Given the description of an element on the screen output the (x, y) to click on. 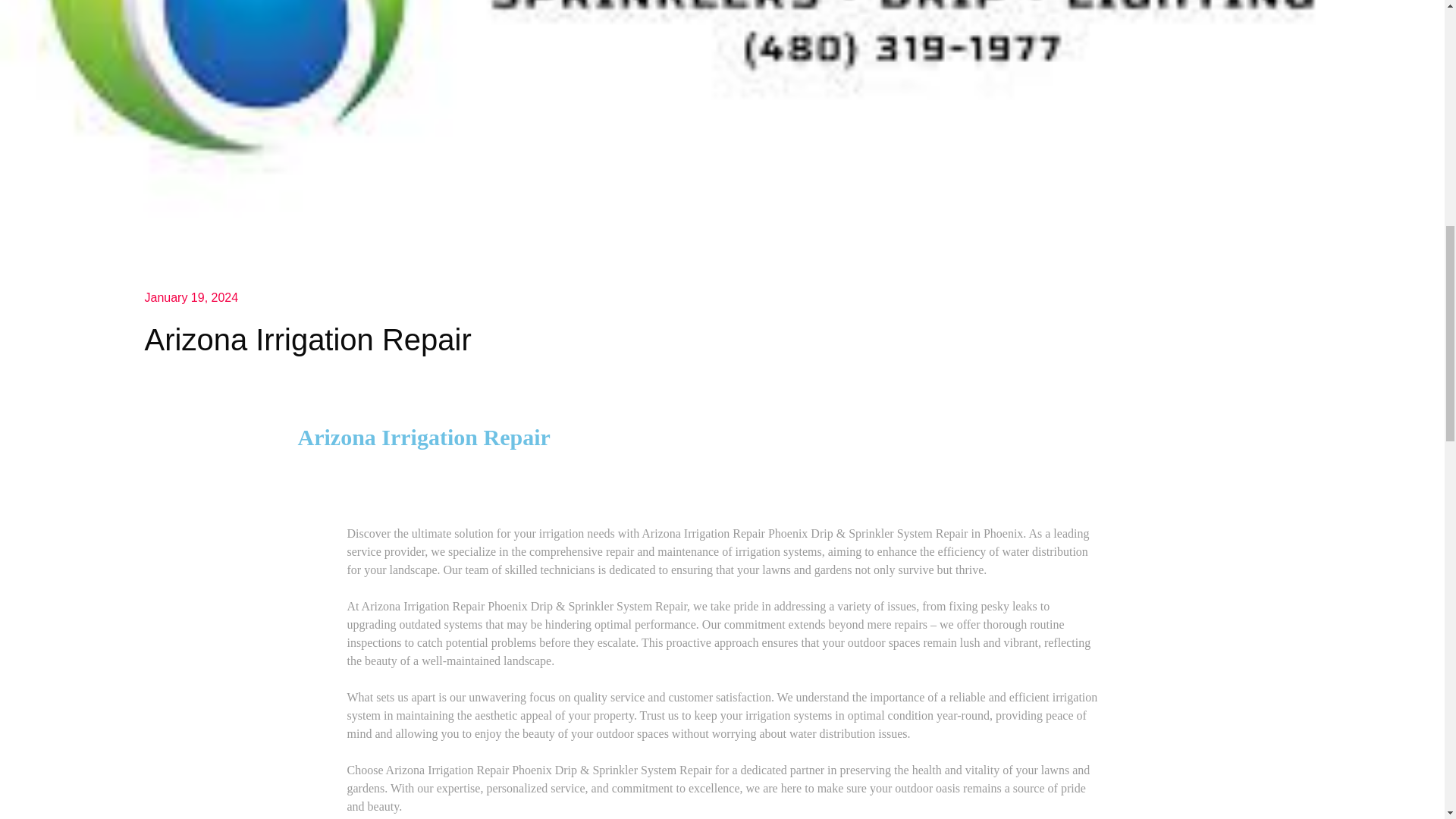
January 19, 2024 (191, 297)
